Given the description of an element on the screen output the (x, y) to click on. 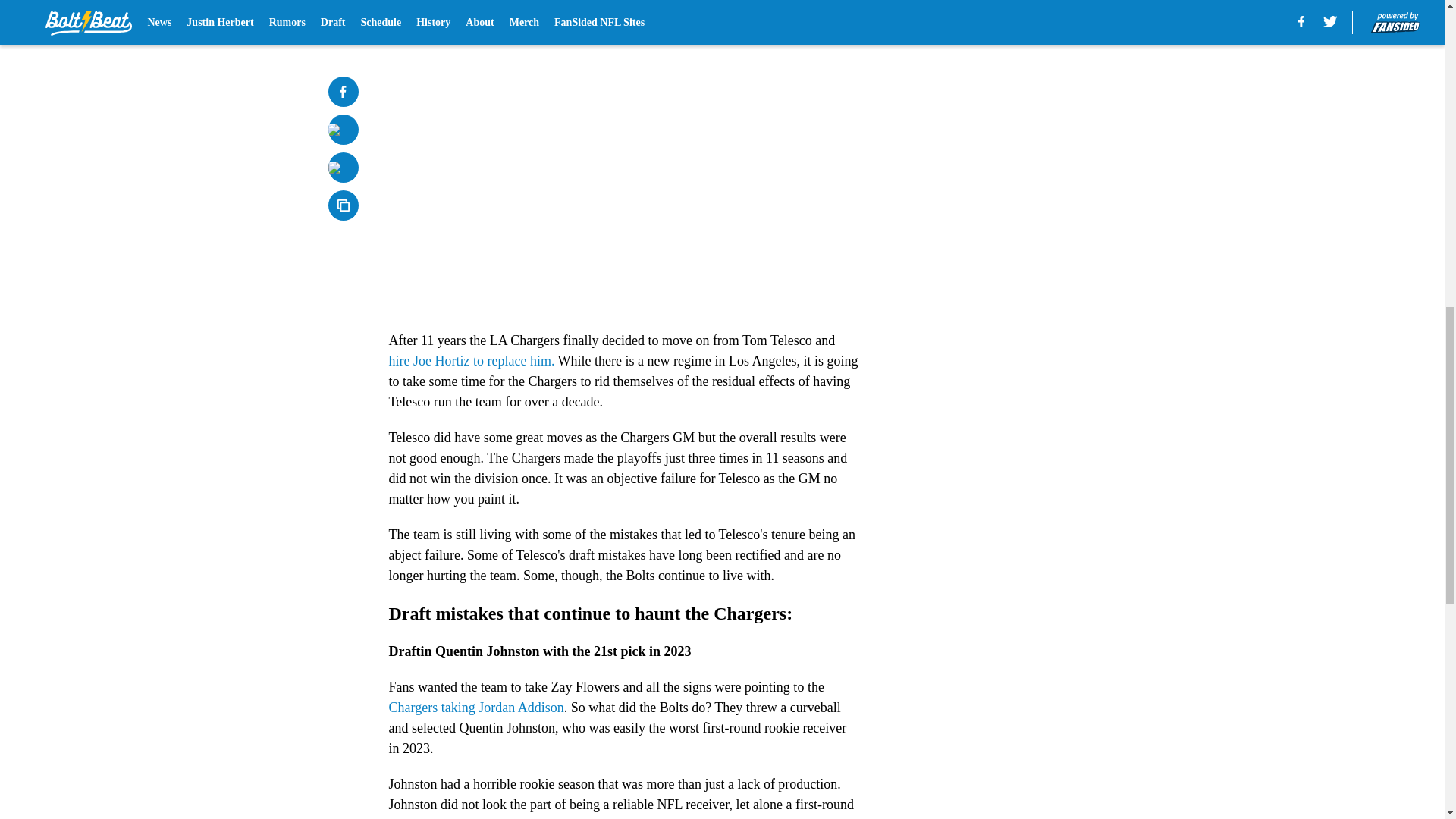
Prev (433, 20)
hire Joe Hortiz to replace him. (471, 360)
Chargers taking Jordan Addison (475, 707)
Next (813, 20)
